Given the description of an element on the screen output the (x, y) to click on. 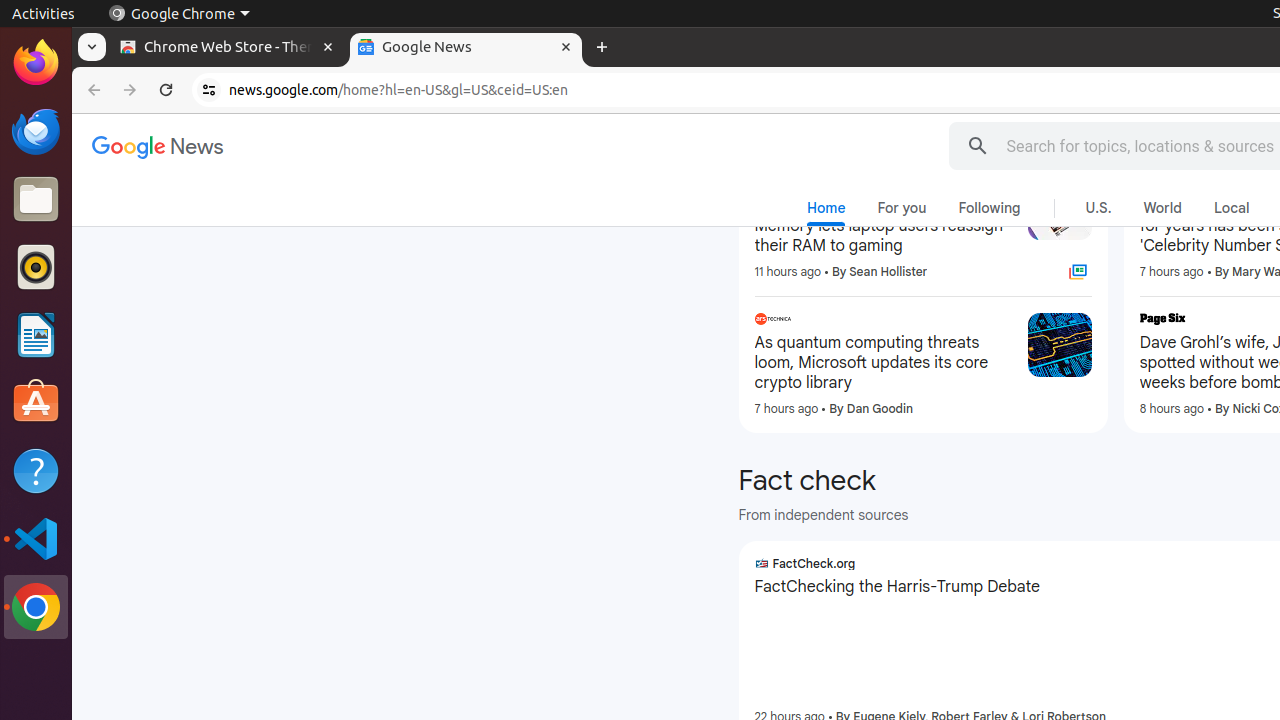
Back Element type: push-button (91, 90)
As quantum computing threats loom, Microsoft updates its core crypto library Element type: link (883, 362)
More - As quantum computing threats loom, Microsoft updates its core crypto library Element type: push-button (1005, 322)
View site information Element type: push-button (209, 90)
Forward Element type: push-button (130, 90)
